Given the description of an element on the screen output the (x, y) to click on. 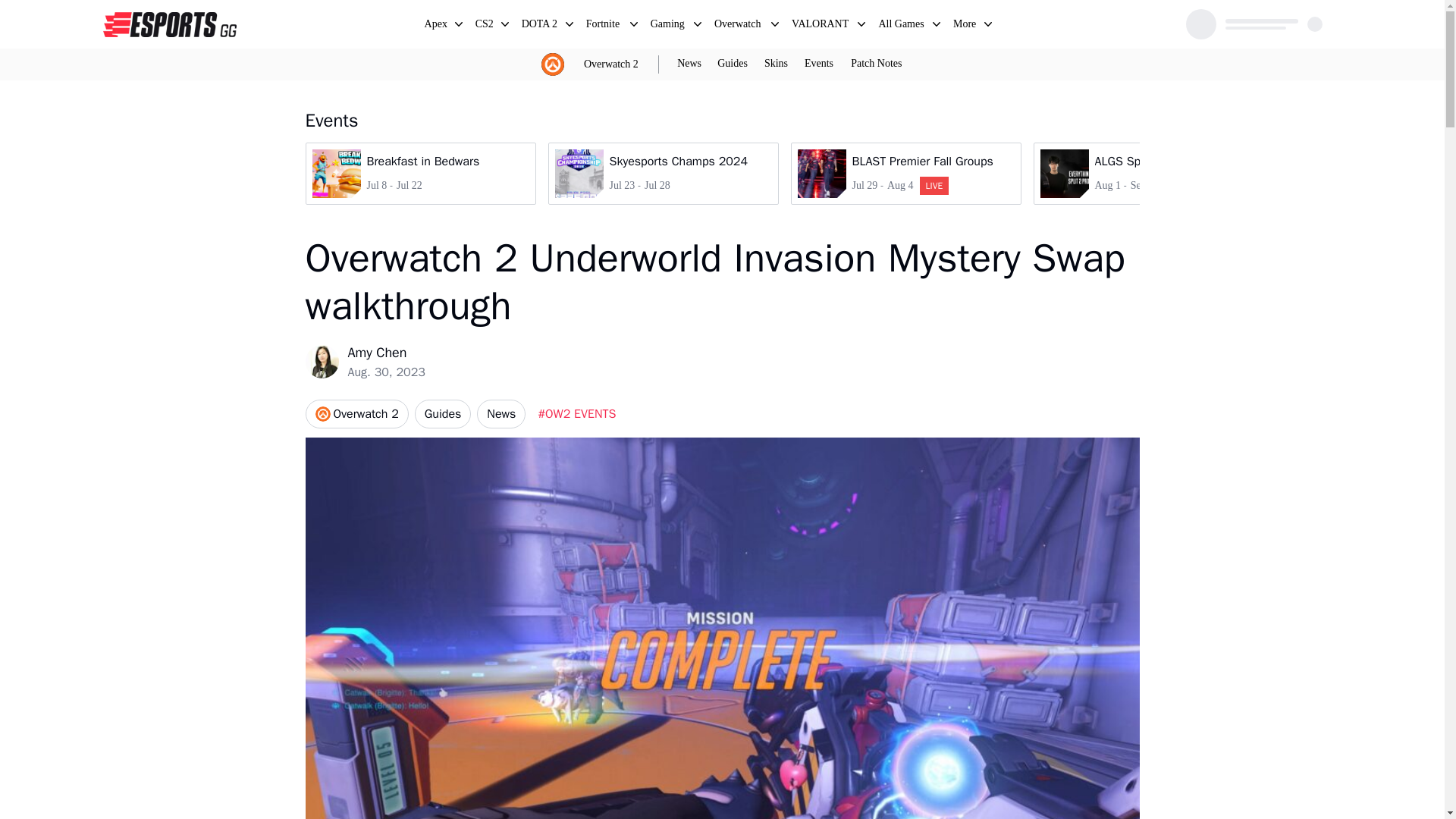
Gaming (668, 25)
Overwatch 2 (355, 413)
Guides (442, 413)
Overwatch (739, 25)
Overwatch 2 (611, 64)
Patch Notes (875, 64)
Fortnite (905, 173)
Events (662, 173)
More (604, 25)
Apex (818, 64)
Amy Chen (964, 25)
Guides (436, 25)
DOTA 2 (386, 352)
